Given the description of an element on the screen output the (x, y) to click on. 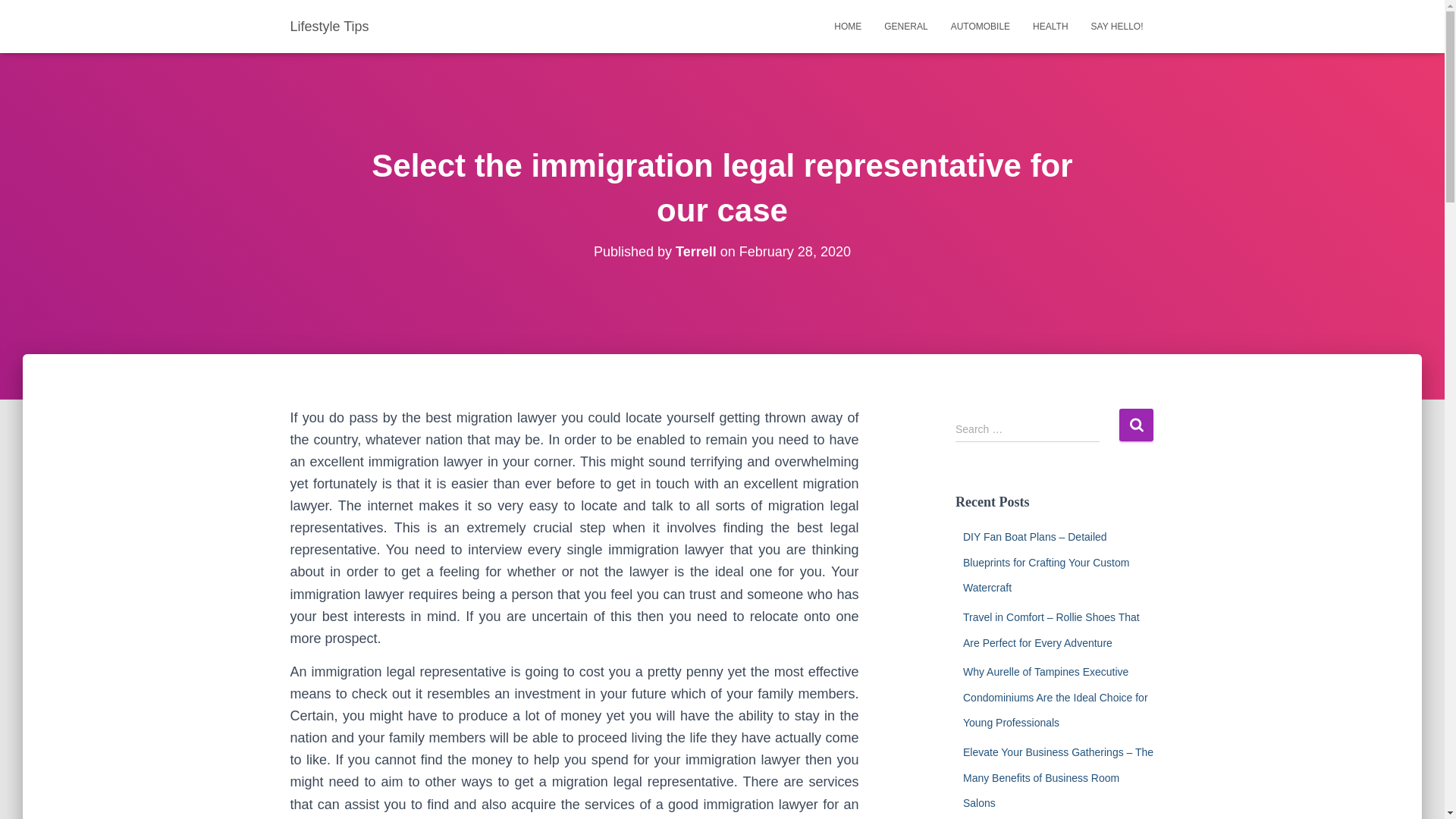
Home (847, 26)
HOME (847, 26)
AUTOMOBILE (980, 26)
SAY HELLO! (1117, 26)
Terrell (695, 251)
Lifestyle Tips (329, 26)
HEALTH (1050, 26)
Search (1136, 424)
Search (1136, 424)
